Given the description of an element on the screen output the (x, y) to click on. 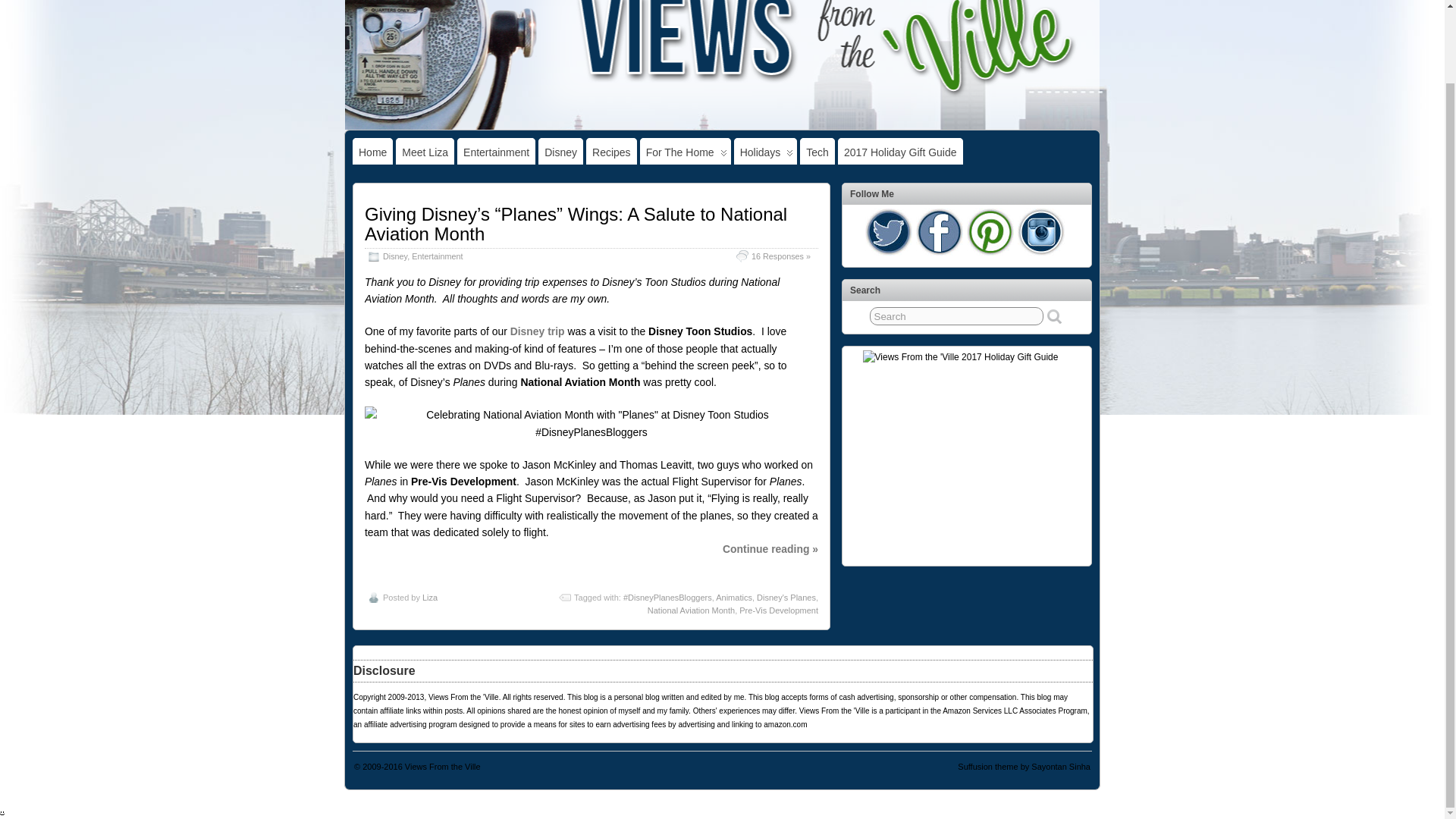
Pre-Vis Development (778, 610)
2017 Holiday Gift Guide (900, 151)
Liza (430, 596)
Views From the Ville (442, 766)
Disney trip (537, 331)
Suffusion theme by Sayontan Sinha (1024, 766)
 Holidays (765, 151)
Entertainment (437, 256)
Search (956, 316)
Disney (560, 151)
Animatics (734, 596)
Tech (816, 151)
Recipes (611, 151)
National Aviation Month (691, 610)
 For The Home (685, 151)
